Given the description of an element on the screen output the (x, y) to click on. 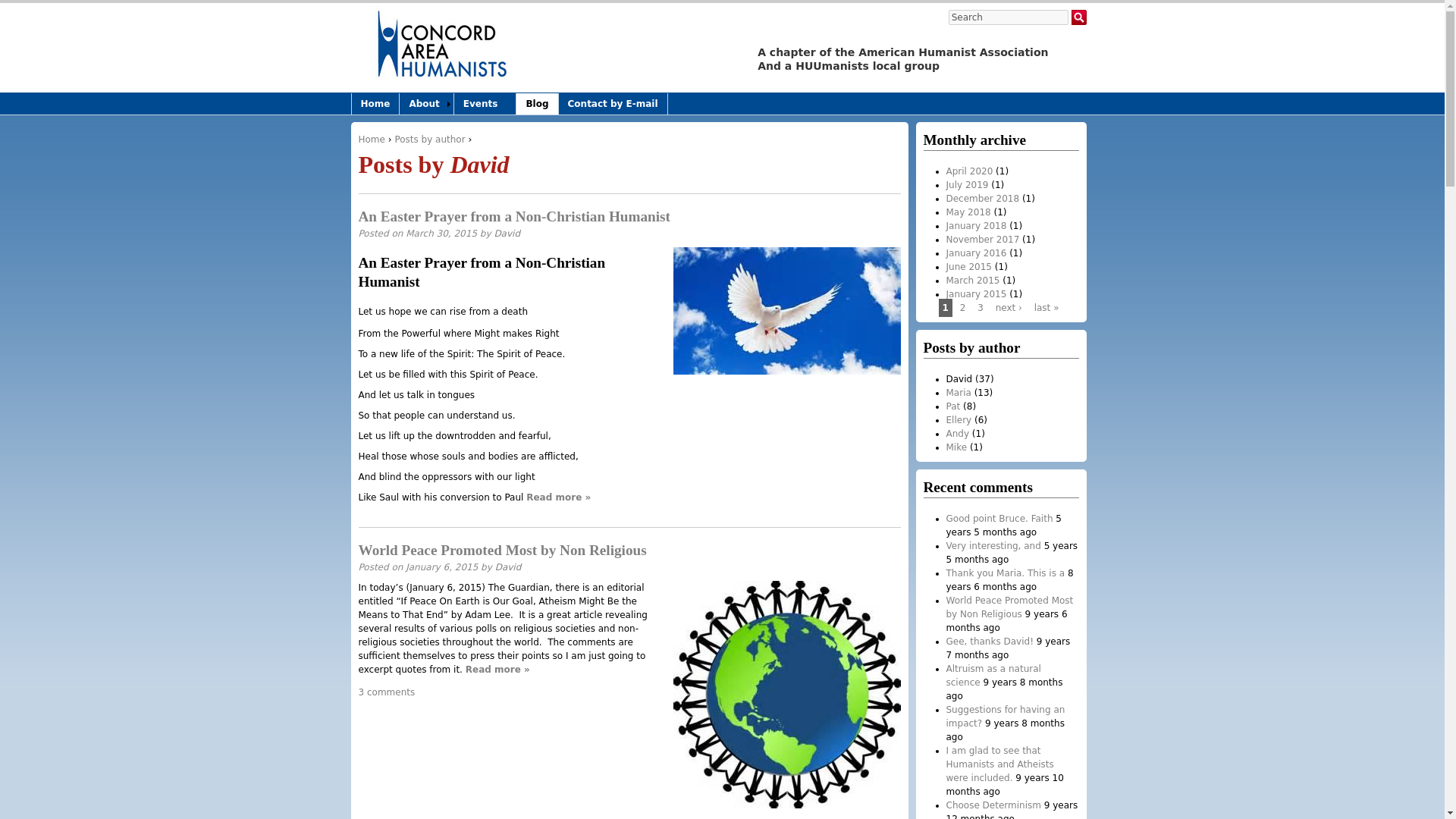
Home (371, 139)
An Easter Prayer from a Non-Christian Humanist (513, 216)
Posts by author (429, 139)
World Peace Promoted Most by Non Religious (502, 549)
David (508, 566)
Dove (786, 310)
3 comments (386, 692)
World Peace (786, 694)
Jump to the first comment of this posting. (386, 692)
Search (1008, 17)
